Given the description of an element on the screen output the (x, y) to click on. 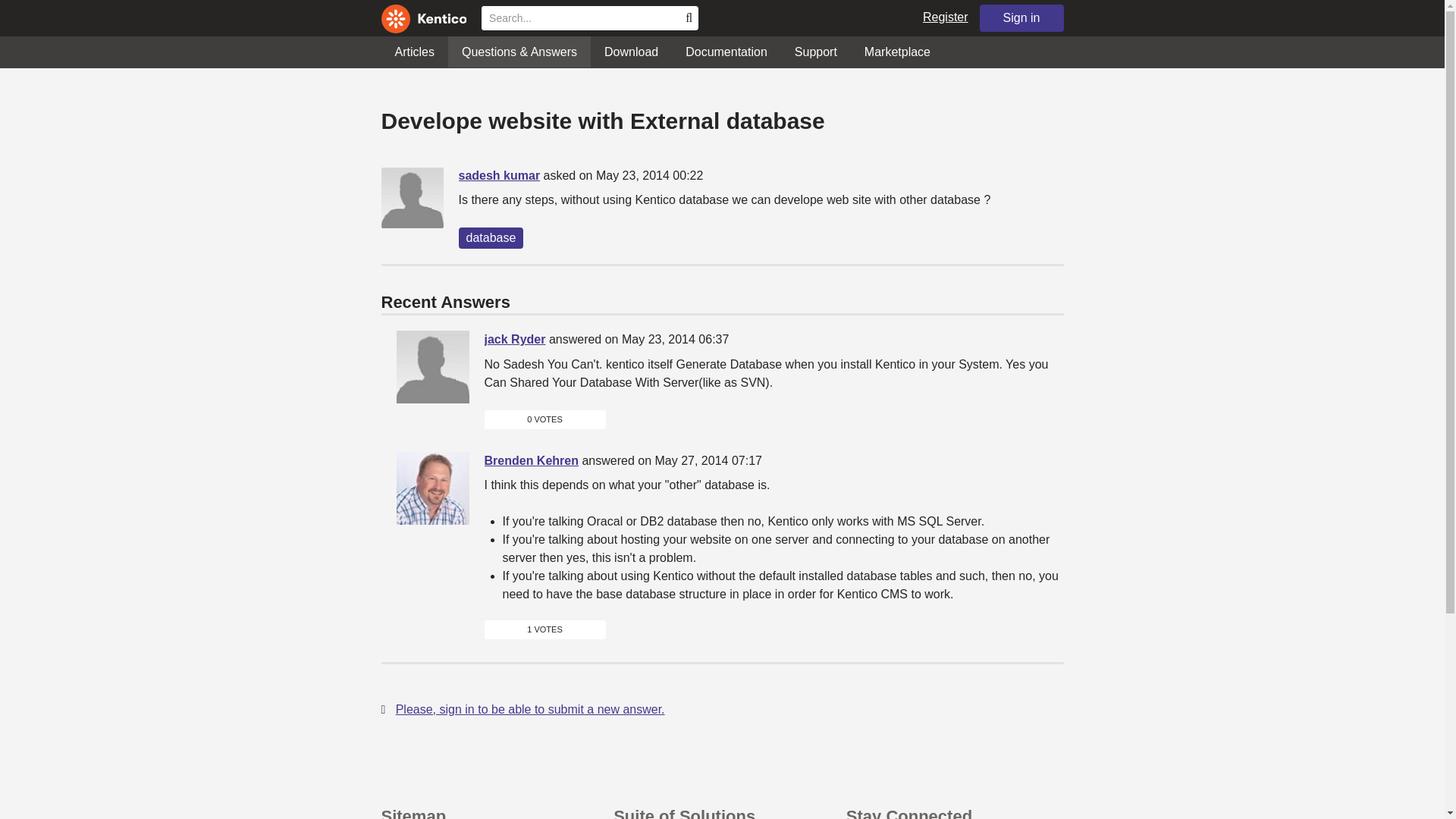
Please, sign in to be able to submit a new answer. (530, 707)
Articles (413, 51)
Support (815, 51)
Search (687, 17)
Documentation (725, 51)
Search (687, 17)
sadesh kumar (499, 174)
Register (945, 17)
Marketplace (896, 51)
jack Ryder (432, 366)
Brenden Kehren (432, 488)
Sign in (1021, 17)
jack Ryder (513, 338)
database (490, 237)
Download (631, 51)
